Given the description of an element on the screen output the (x, y) to click on. 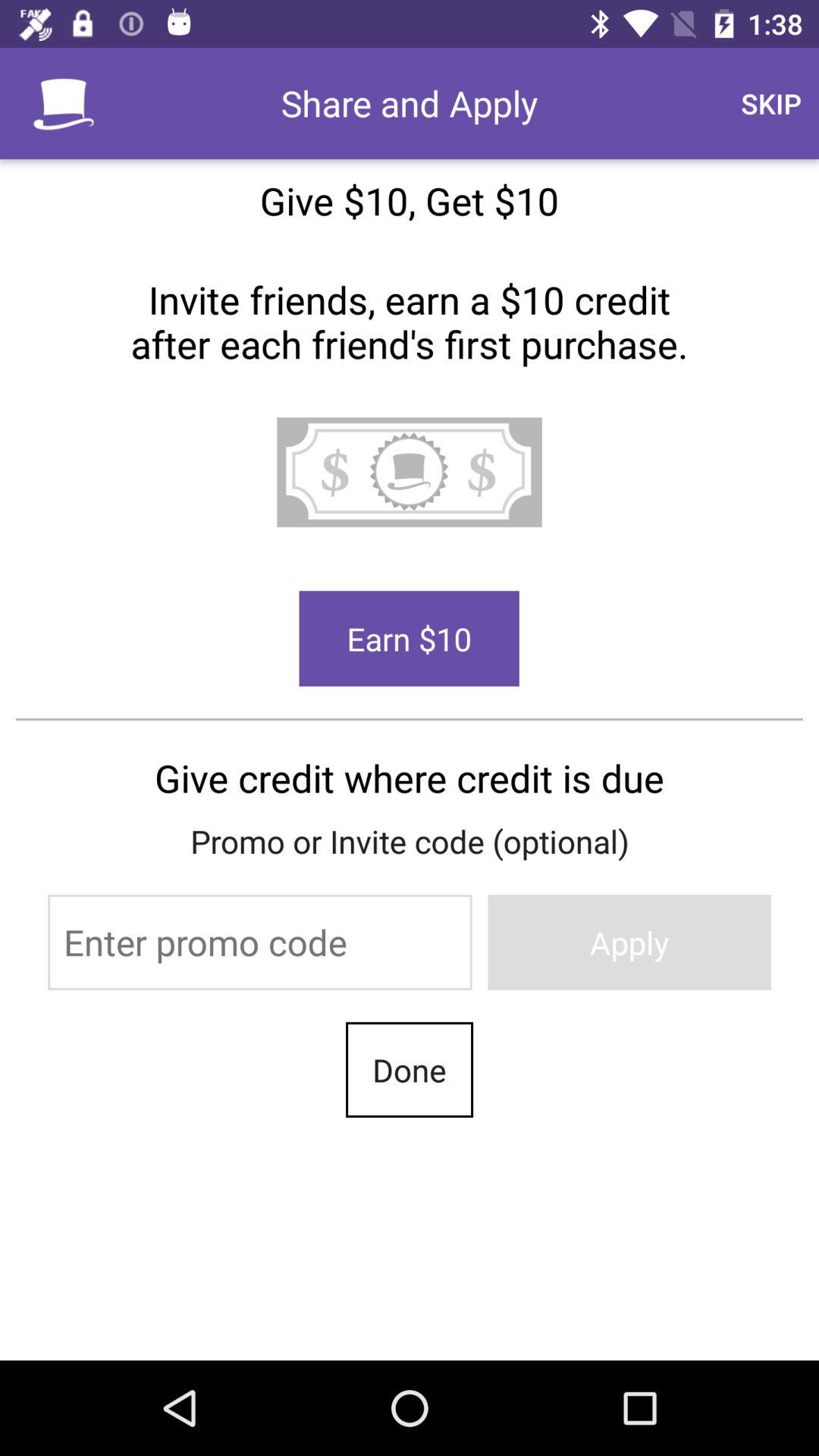
flip until the skip (771, 103)
